Given the description of an element on the screen output the (x, y) to click on. 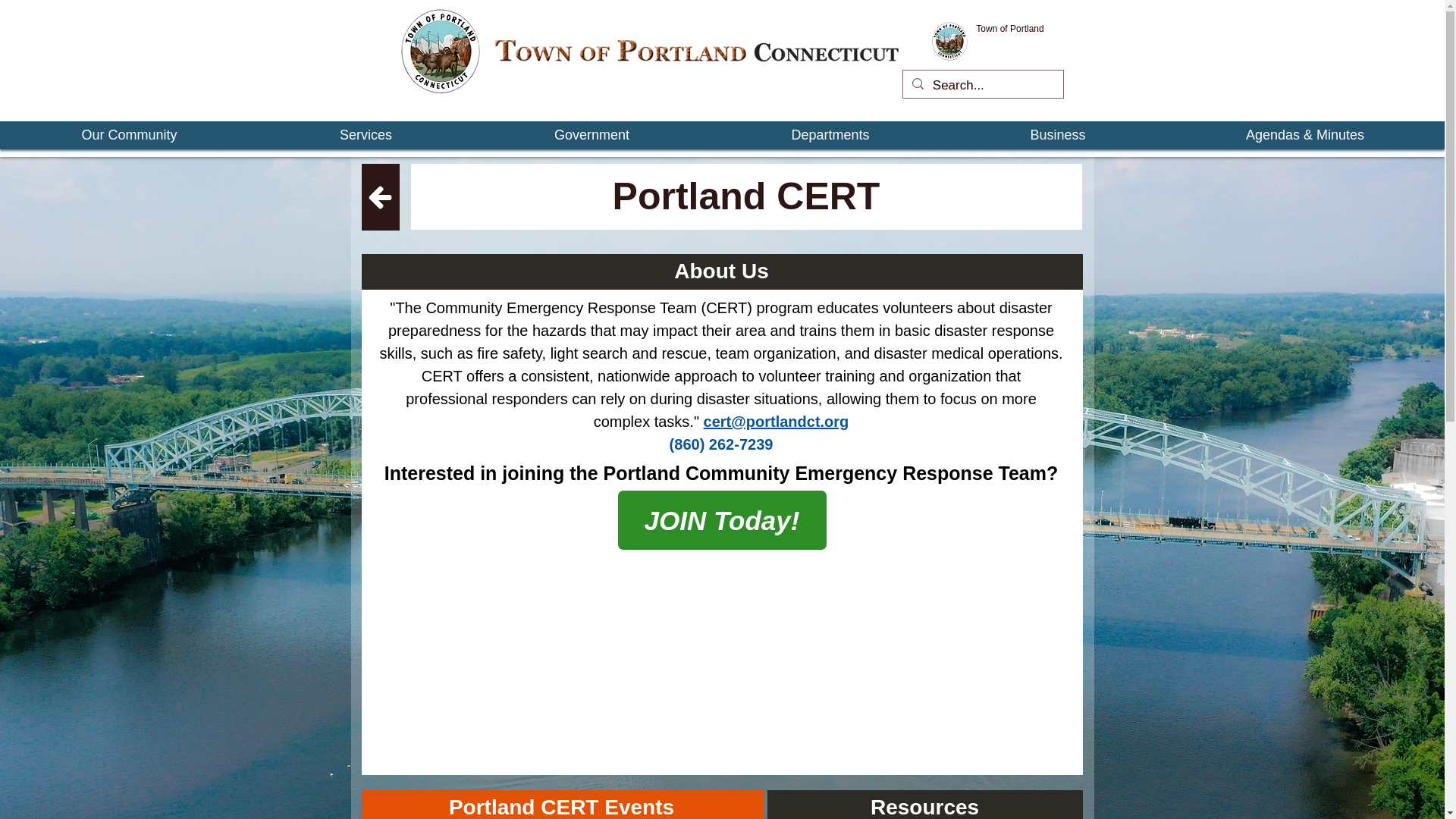
Departments (830, 135)
Our Community (129, 135)
JOIN Today! (722, 519)
Government (591, 135)
Business (1058, 135)
Town of Portland (1009, 29)
Services (366, 135)
